Given the description of an element on the screen output the (x, y) to click on. 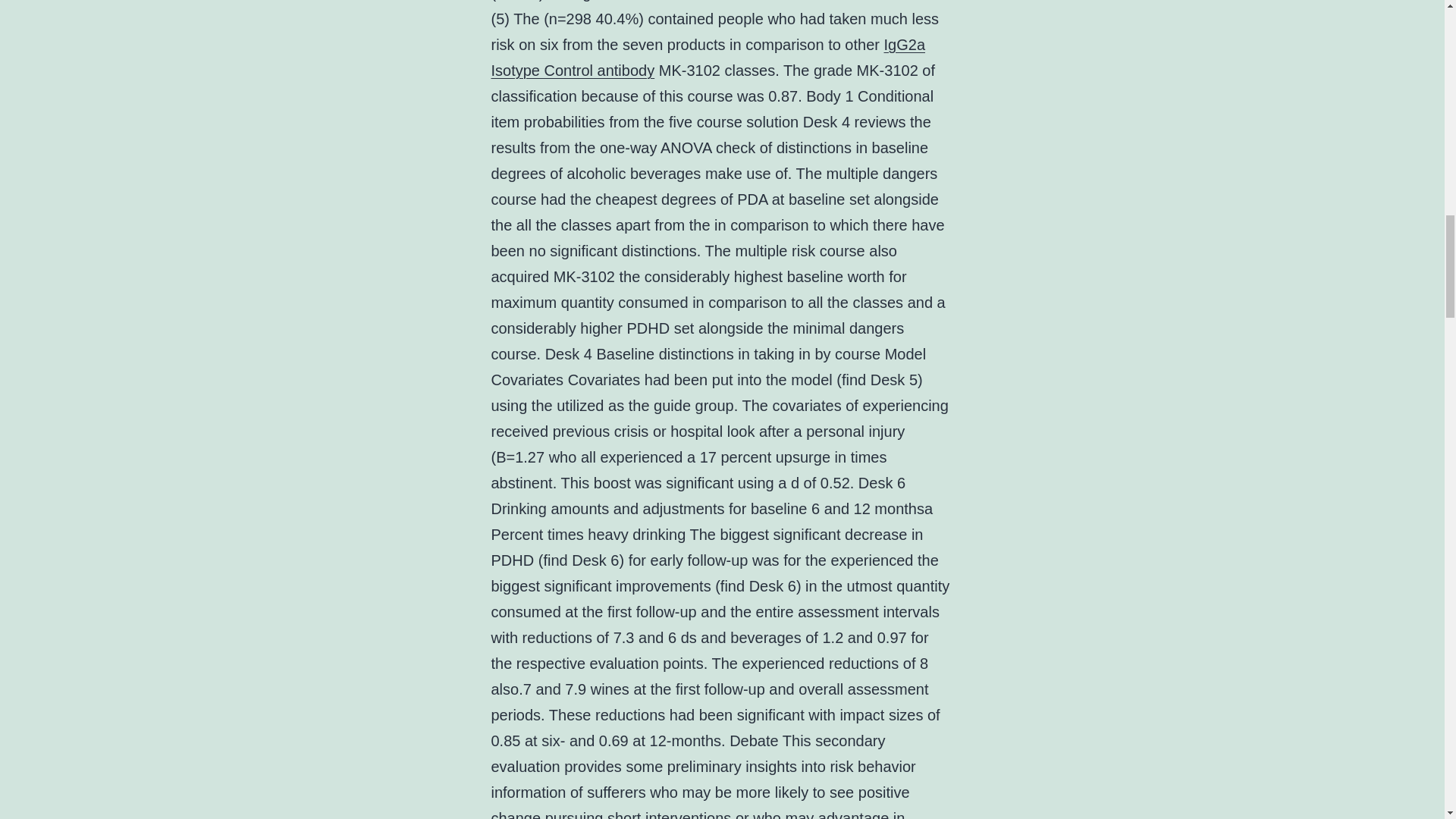
IgG2a Isotype Control antibody (709, 57)
